Given the description of an element on the screen output the (x, y) to click on. 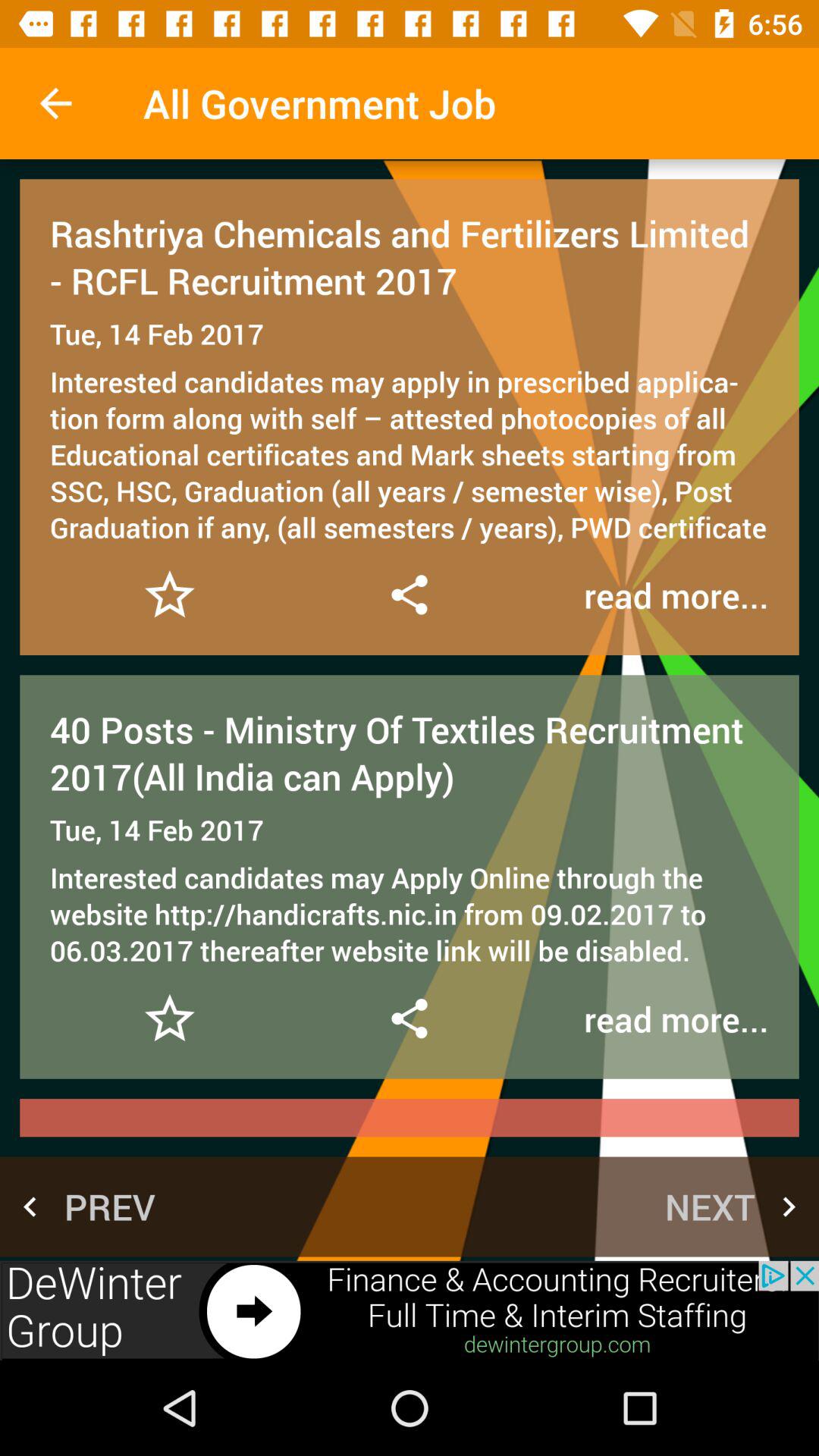
share (408, 1018)
